Given the description of an element on the screen output the (x, y) to click on. 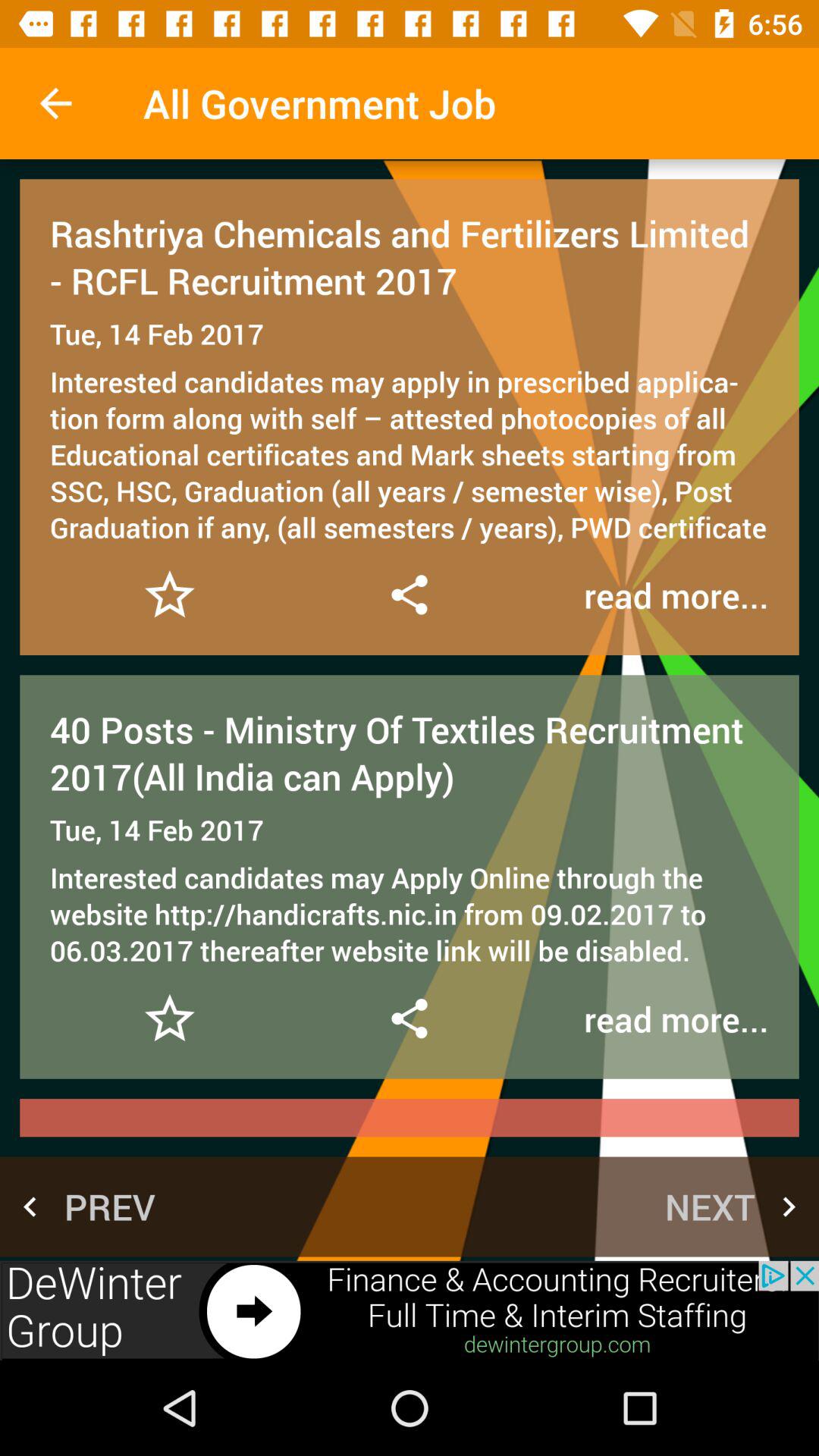
share (408, 1018)
